Given the description of an element on the screen output the (x, y) to click on. 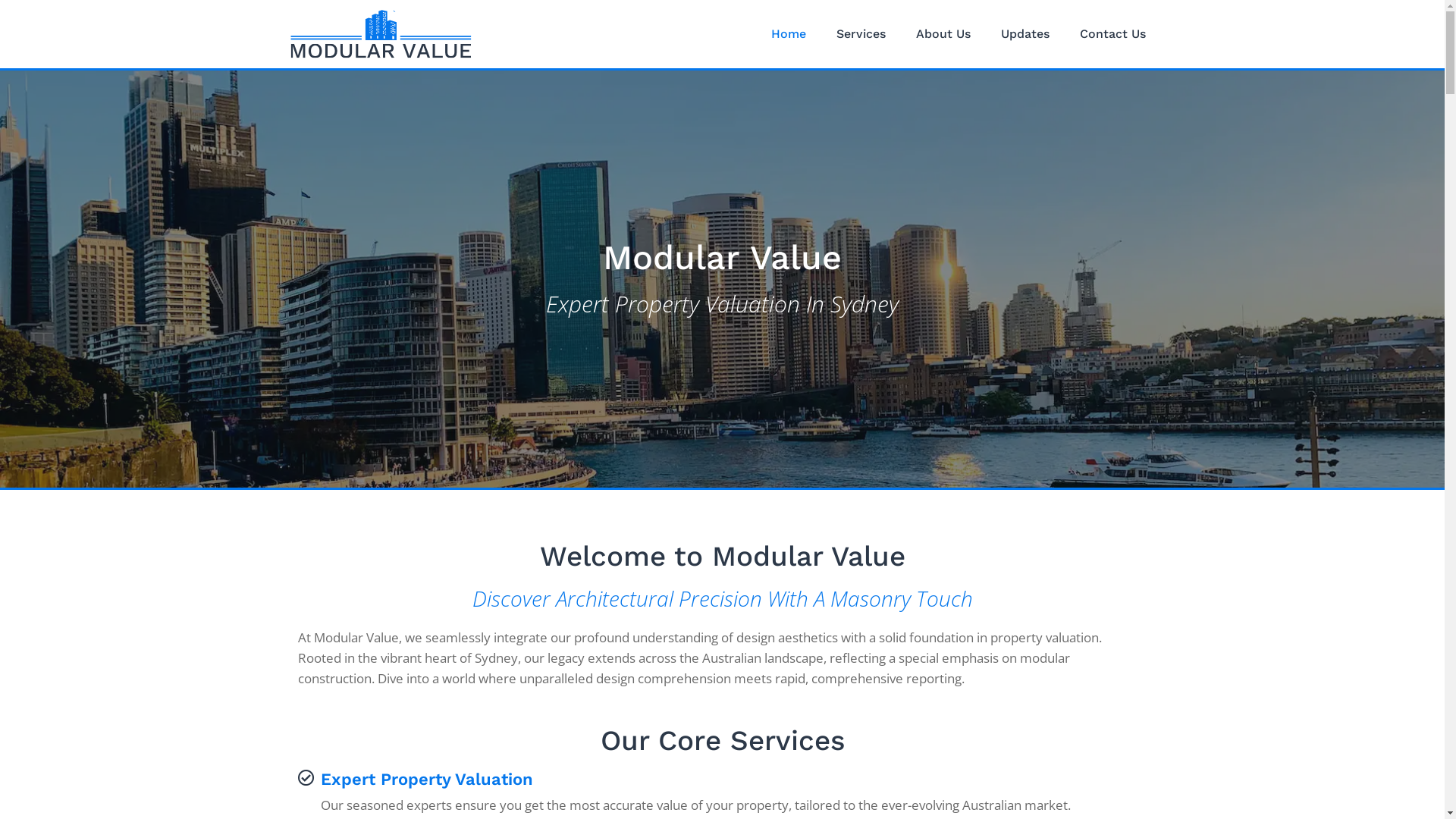
Contact Us Element type: text (1112, 33)
Updates Element type: text (1025, 33)
Services Element type: text (860, 33)
Home Element type: text (788, 33)
About Us Element type: text (943, 33)
